Given the description of an element on the screen output the (x, y) to click on. 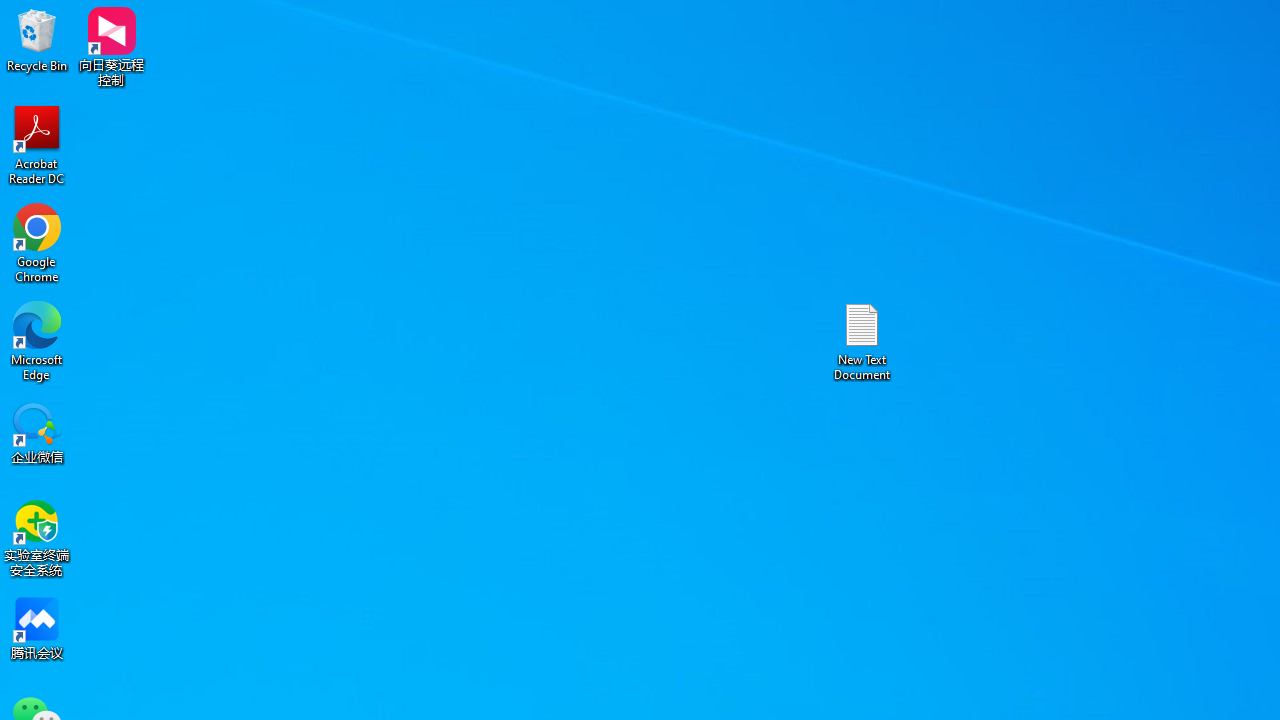
Microsoft Edge (37, 340)
Recycle Bin (37, 39)
New Text Document (861, 340)
Google Chrome (37, 242)
Acrobat Reader DC (37, 144)
